Given the description of an element on the screen output the (x, y) to click on. 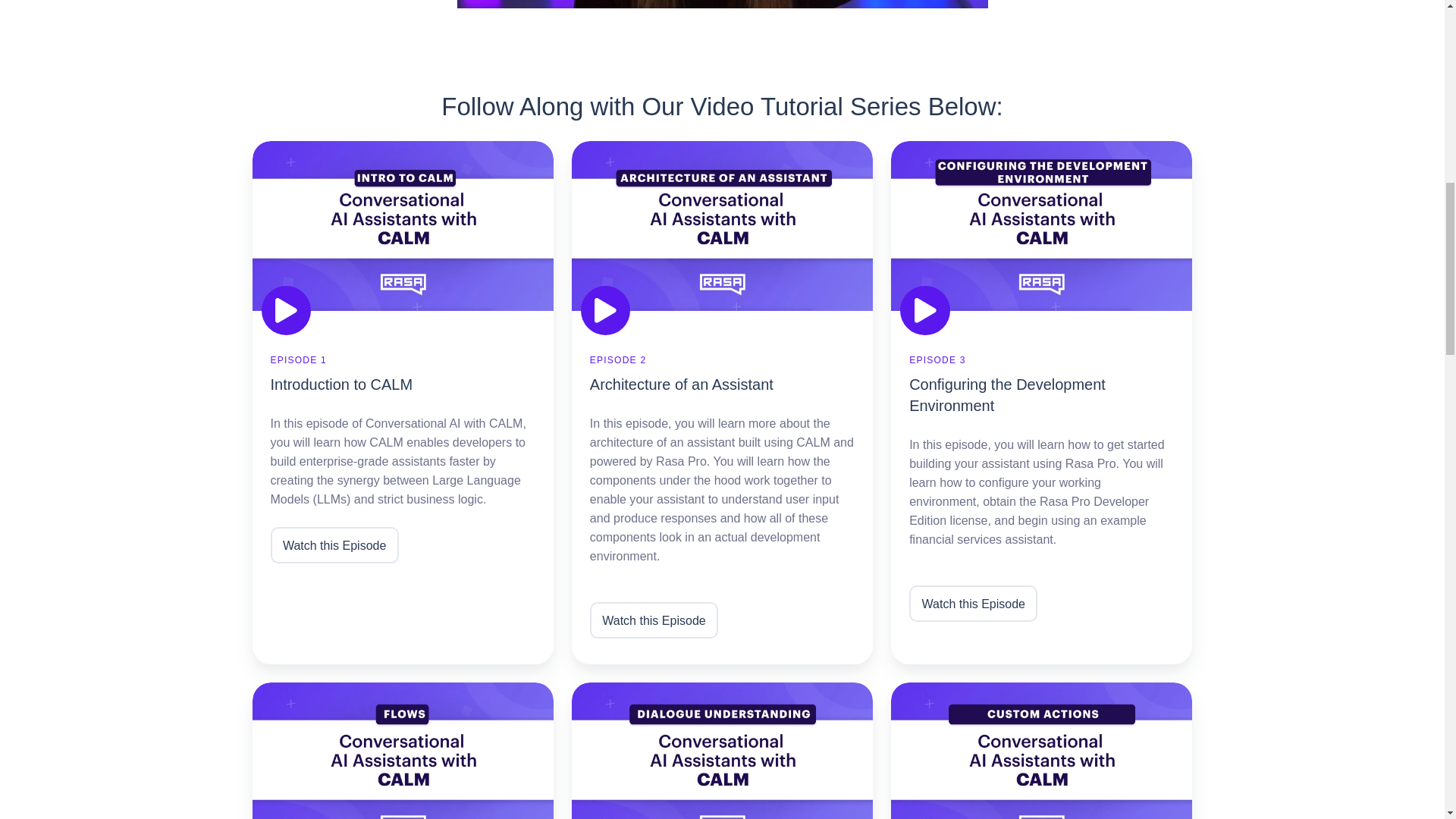
Watch this Episode (653, 619)
HubSpot Video (722, 4)
Dialogue Understanding (722, 750)
Watch this Episode (333, 545)
Flows (402, 750)
Watch this Episode (972, 603)
Custom Actions (1041, 750)
